Given the description of an element on the screen output the (x, y) to click on. 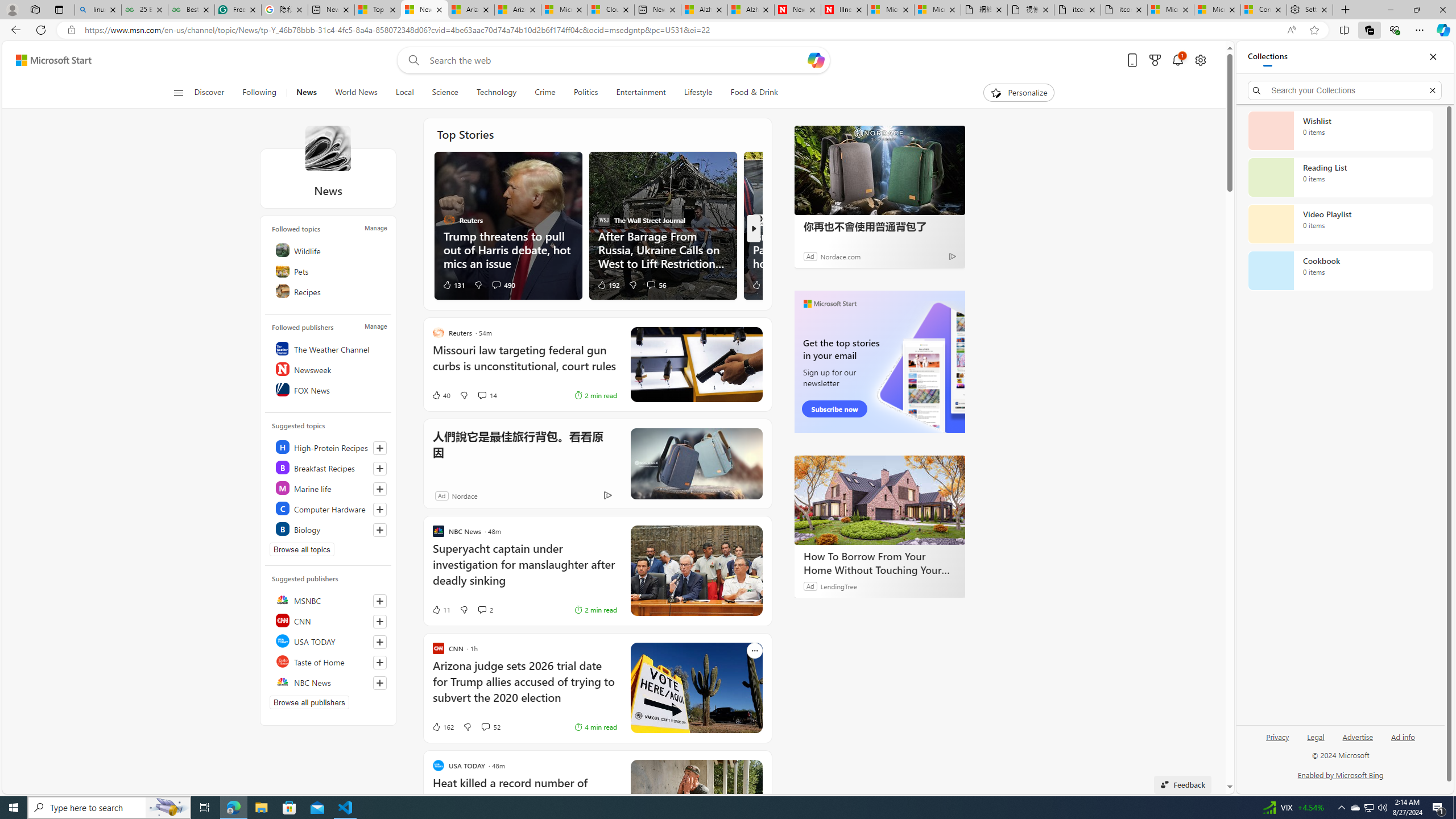
To get missing image descriptions, open the context menu. (995, 92)
View comments 490 Comment (502, 284)
Privacy (1278, 736)
Food & Drink (753, 92)
Open navigation menu (177, 92)
Newsweek - News, Analysis, Politics, Business, Technology (797, 9)
Follow this topic (379, 530)
News - MSN (424, 9)
